Given the description of an element on the screen output the (x, y) to click on. 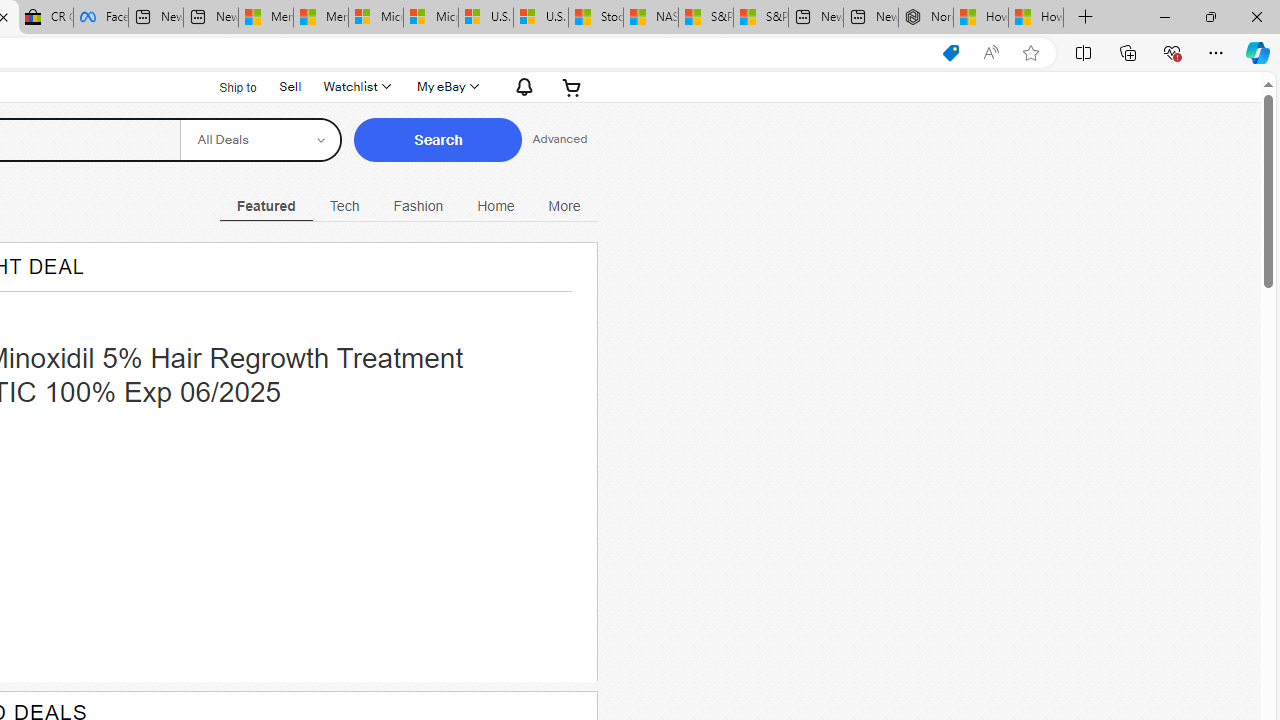
Class: navigation-desktop-with-flyout open-left (564, 203)
Expand Cart (572, 86)
Watchlist (355, 86)
Fashion (418, 205)
Select a category for search (260, 139)
Your shopping cart (572, 86)
Sell (290, 84)
